Given the description of an element on the screen output the (x, y) to click on. 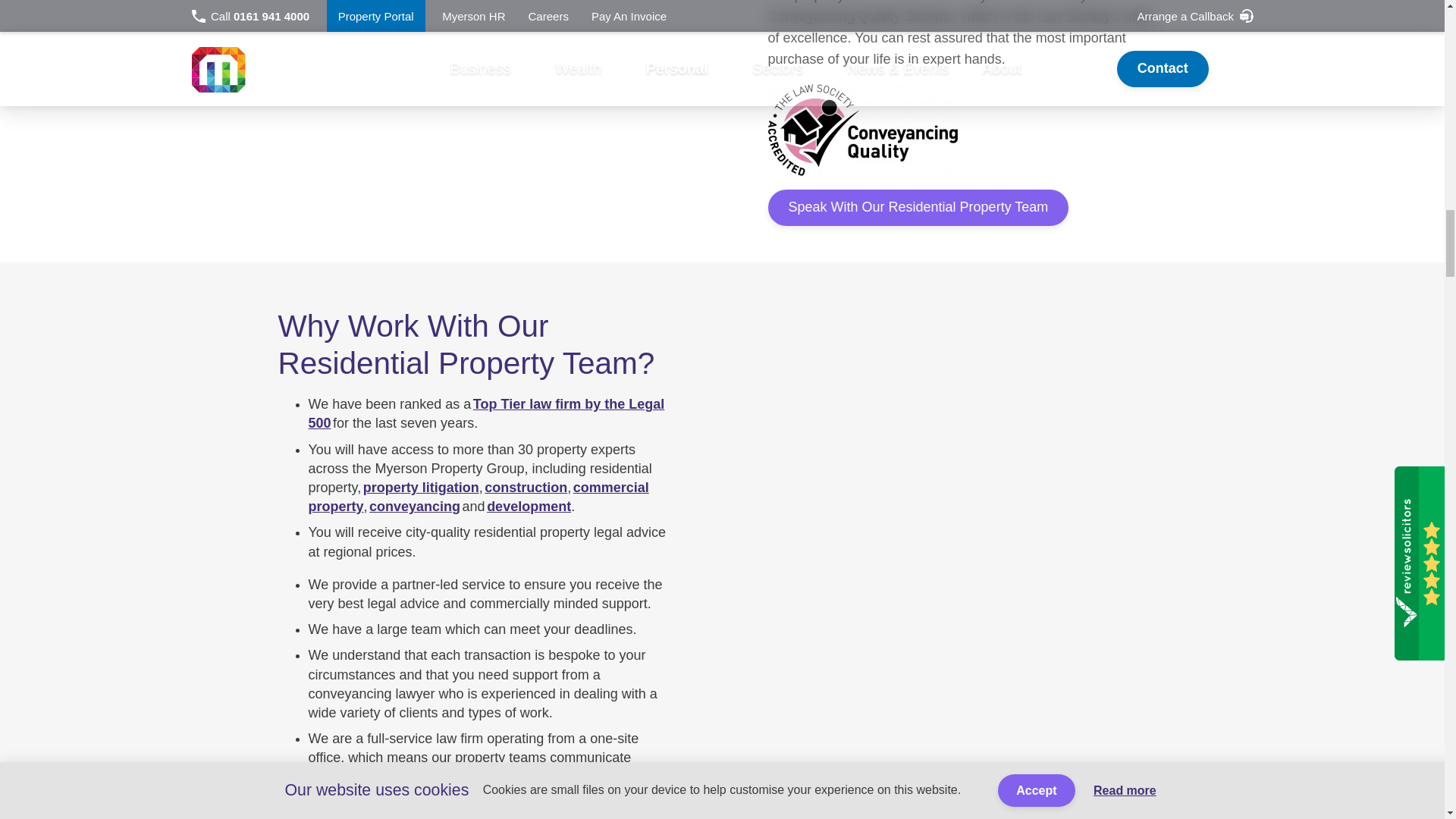
Law Society Conveyancing Quality  (966, 129)
Accredited CQ logo rgb (861, 129)
